Given the description of an element on the screen output the (x, y) to click on. 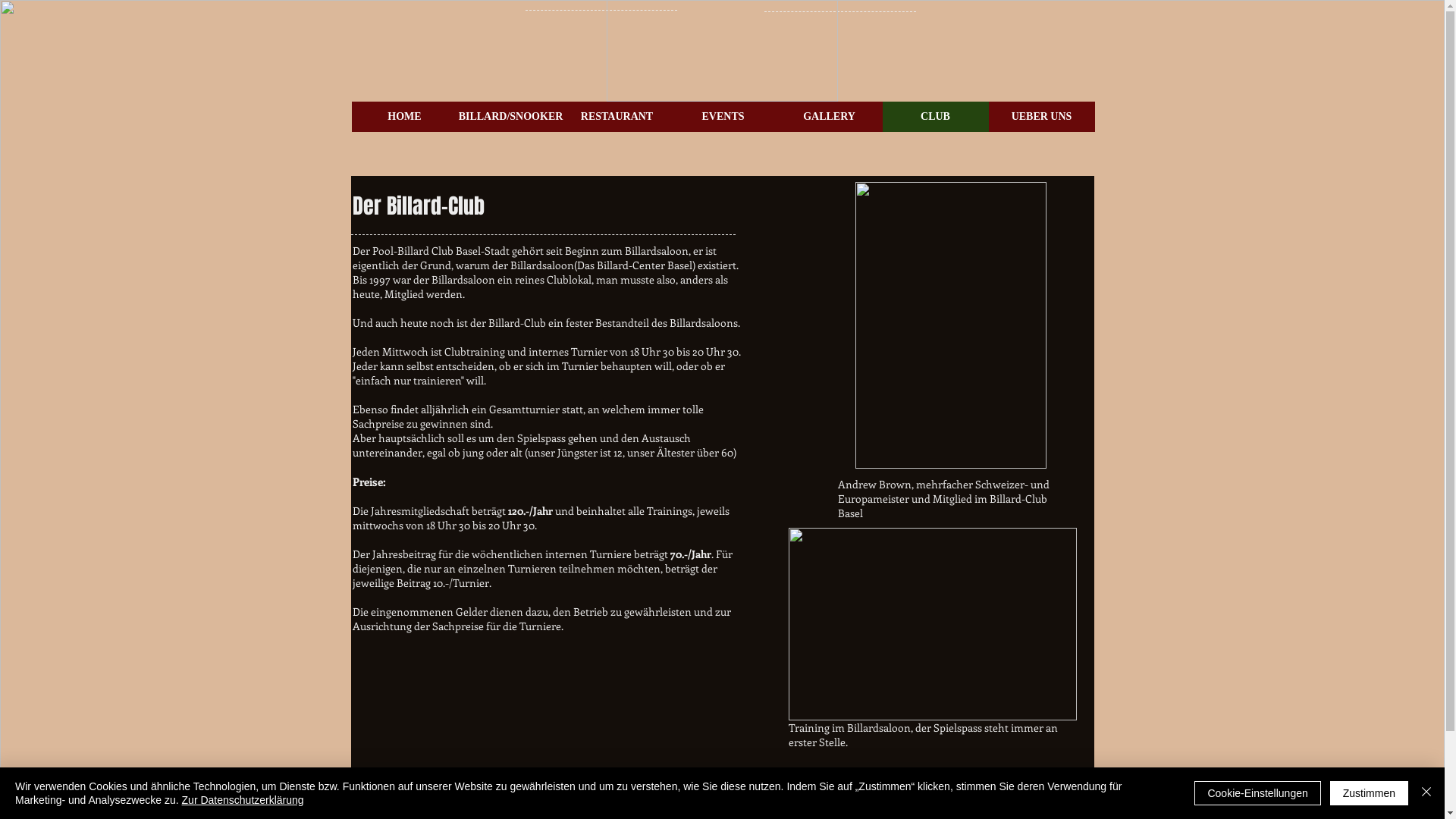
Steinentorstrasse 35, 4051 Basel Element type: text (470, 793)
Unsere Events Element type: text (898, 793)
Cookie-Einstellungen Element type: text (1257, 793)
KoMaHo Element type: text (582, 812)
Folge uns Element type: text (1021, 793)
EVENTS Element type: text (723, 116)
HOME Element type: text (404, 116)
UEBER UNS Element type: text (1041, 116)
RESTAURANT Element type: text (617, 116)
GALLERY Element type: text (829, 116)
Event buchen Element type: text (651, 793)
BILLARD/SNOOKER Element type: text (511, 116)
CLUB Element type: text (935, 116)
Essen und Trinken Element type: text (773, 793)
Zustimmen Element type: text (1369, 793)
Billardsaloon035.png Element type: hover (950, 325)
